Given the description of an element on the screen output the (x, y) to click on. 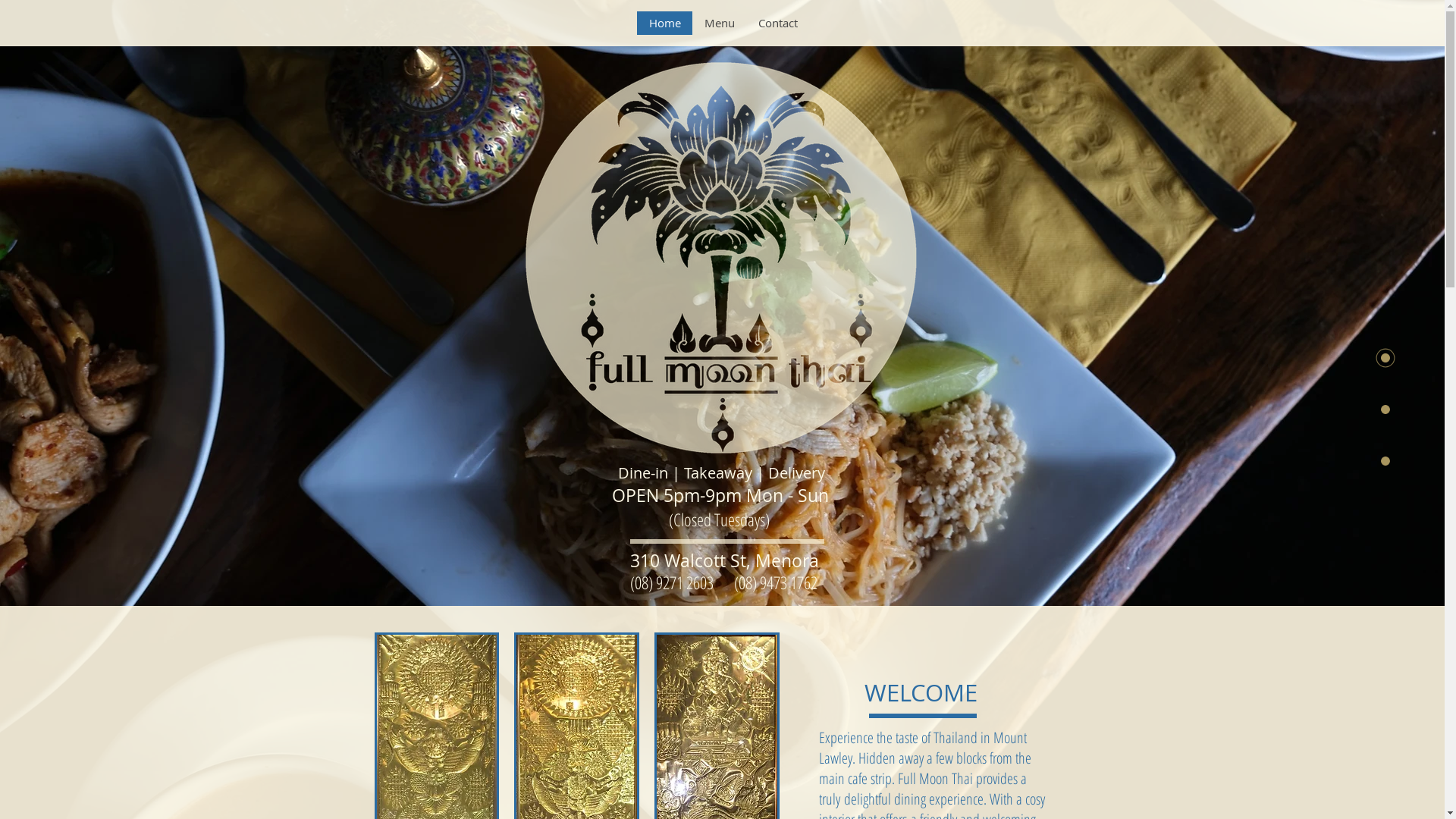
Contact Element type: text (777, 22)
Home Element type: text (664, 22)
Menu Element type: text (719, 22)
